Given the description of an element on the screen output the (x, y) to click on. 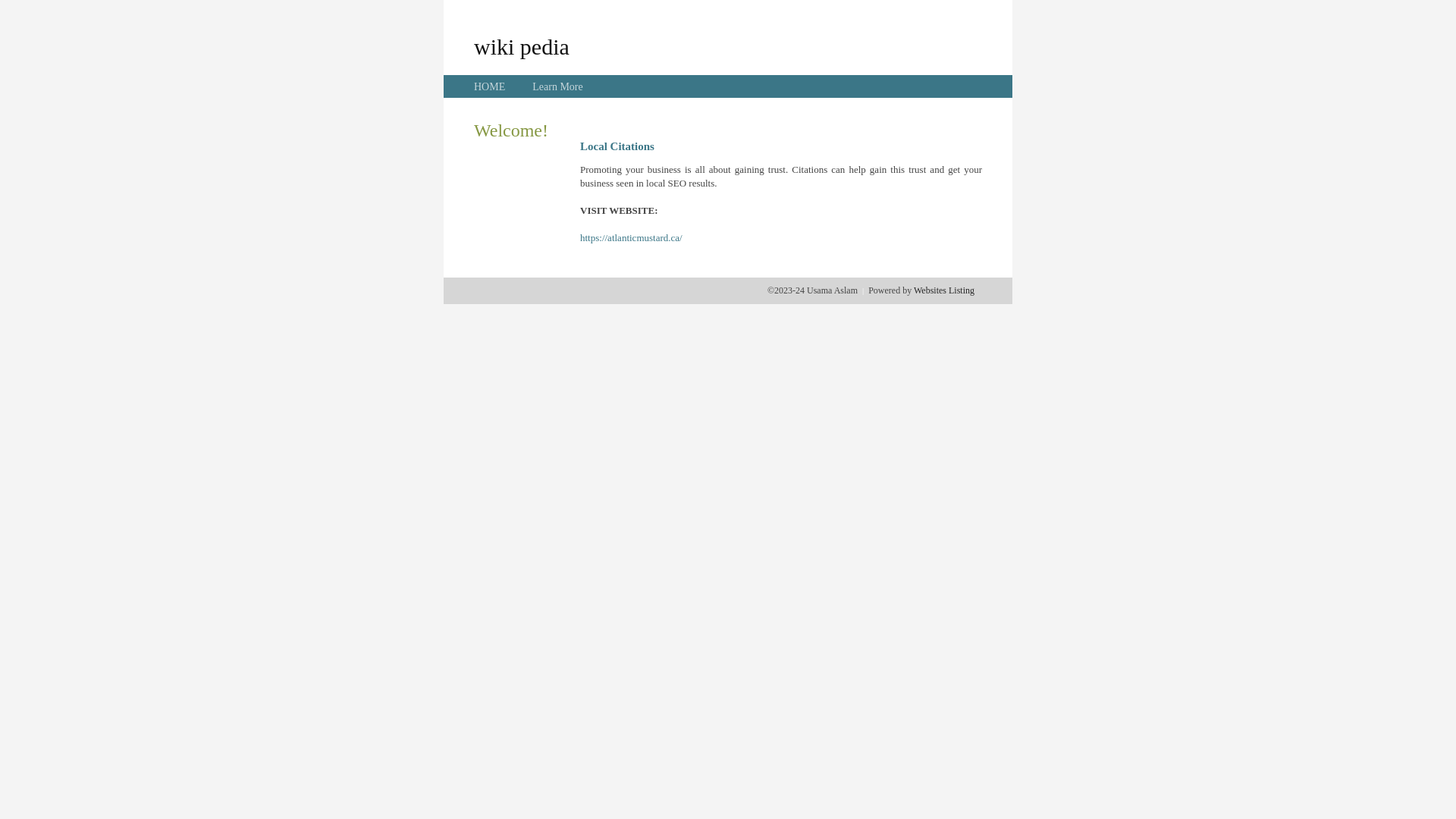
https://atlanticmustard.ca/ Element type: text (631, 237)
Learn More Element type: text (557, 86)
Websites Listing Element type: text (943, 290)
wiki pedia Element type: text (521, 46)
HOME Element type: text (489, 86)
